Given the description of an element on the screen output the (x, y) to click on. 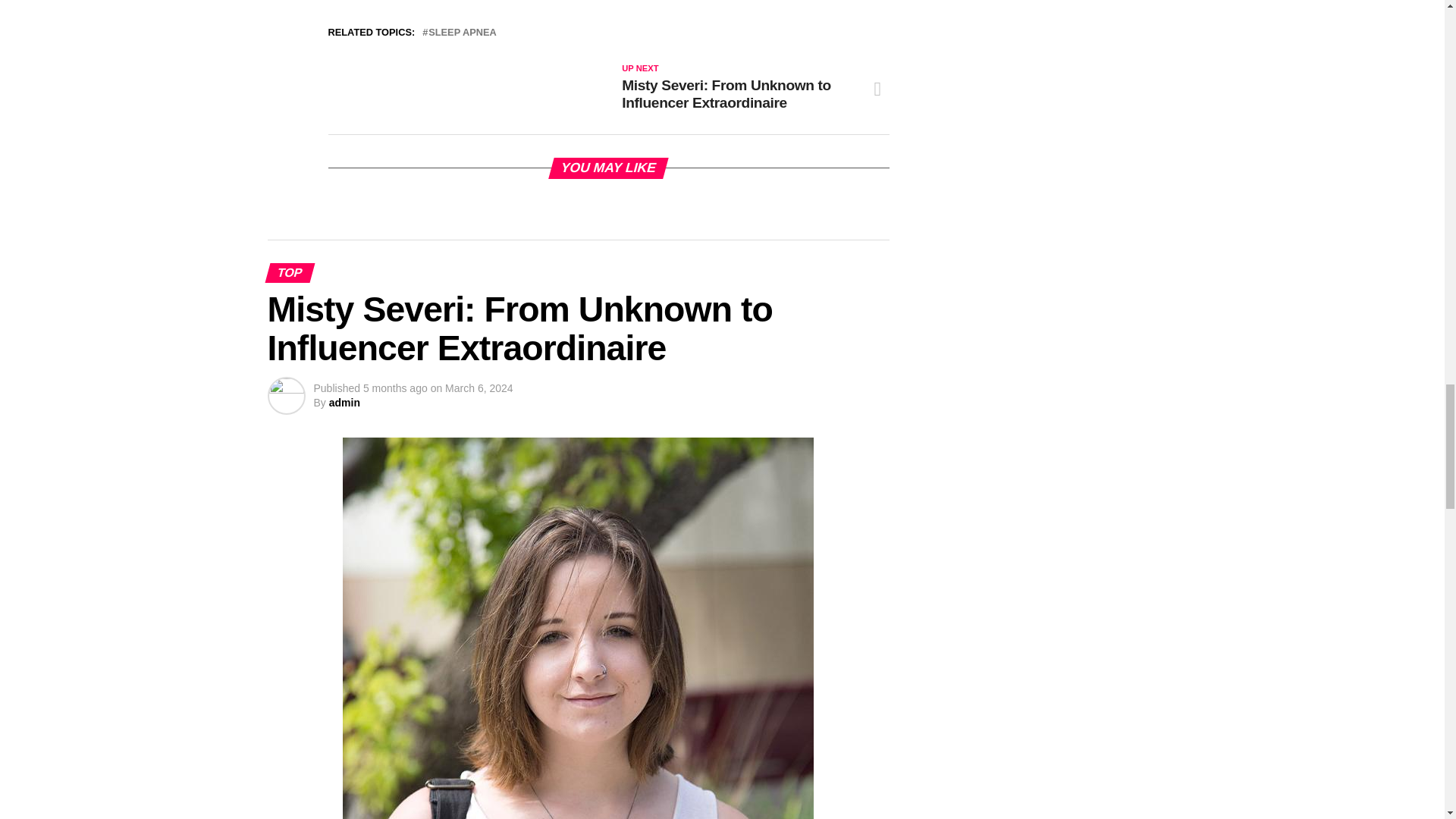
Posts by admin (344, 402)
